Given the description of an element on the screen output the (x, y) to click on. 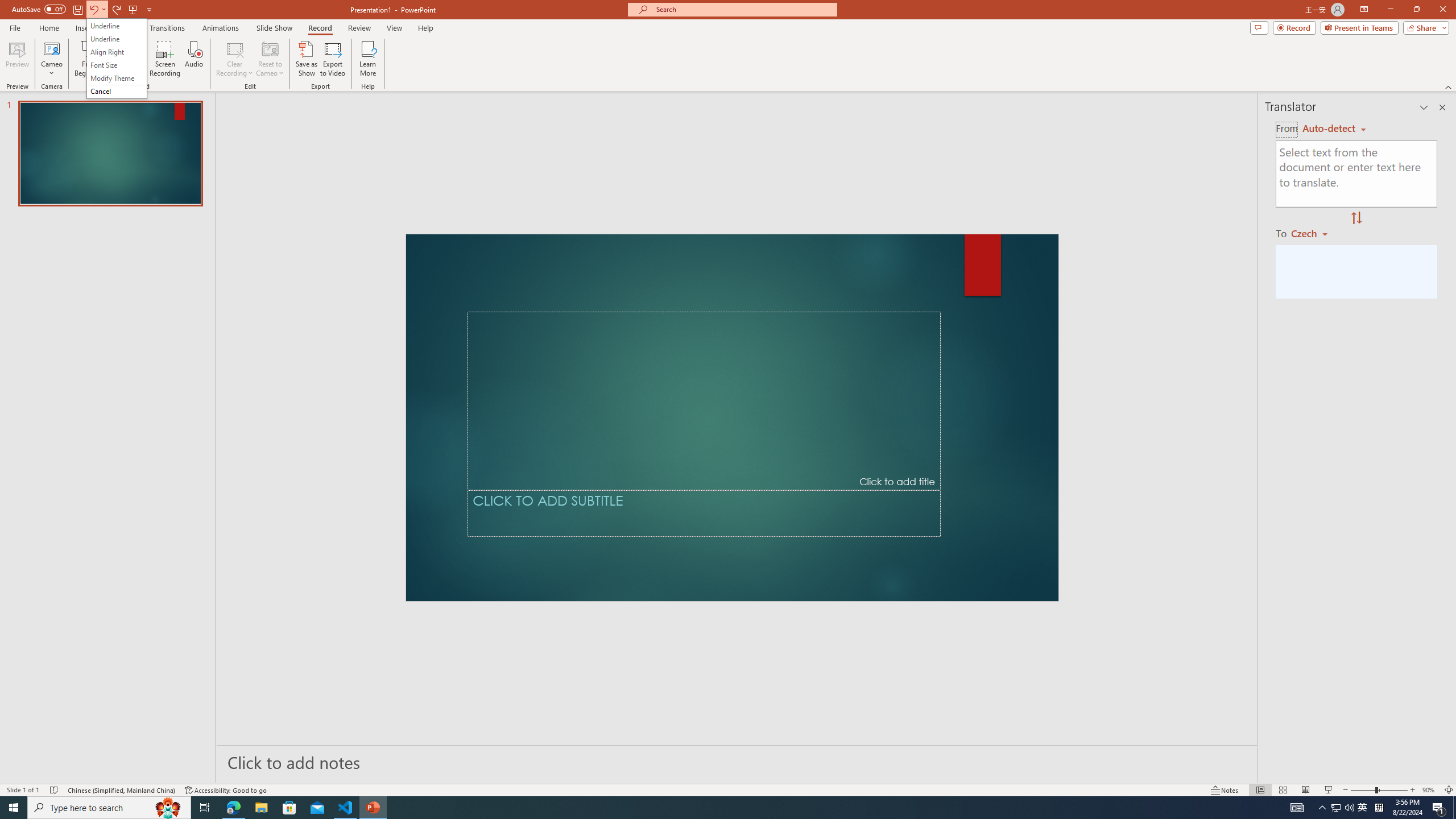
Export to Video (332, 58)
Auto-detect (1334, 128)
Clear Recording (234, 58)
Zoom 90% (1430, 790)
